Given the description of an element on the screen output the (x, y) to click on. 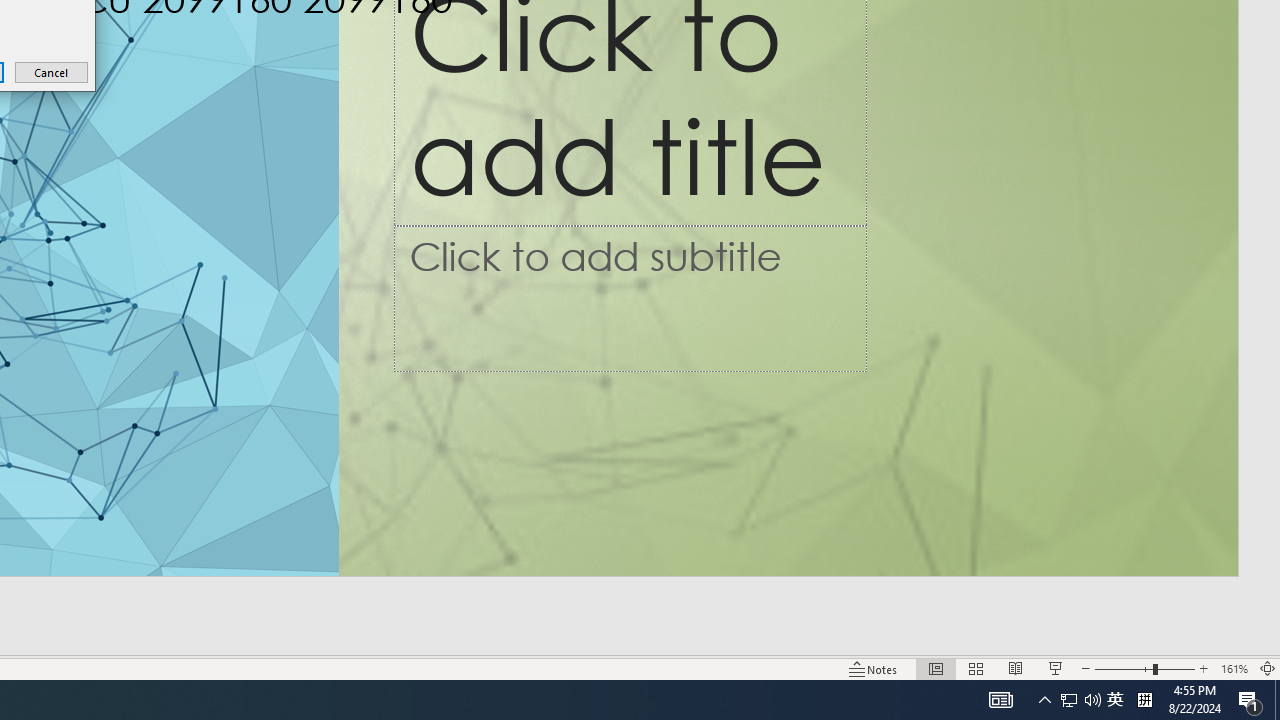
Cancel (51, 72)
